Given the description of an element on the screen output the (x, y) to click on. 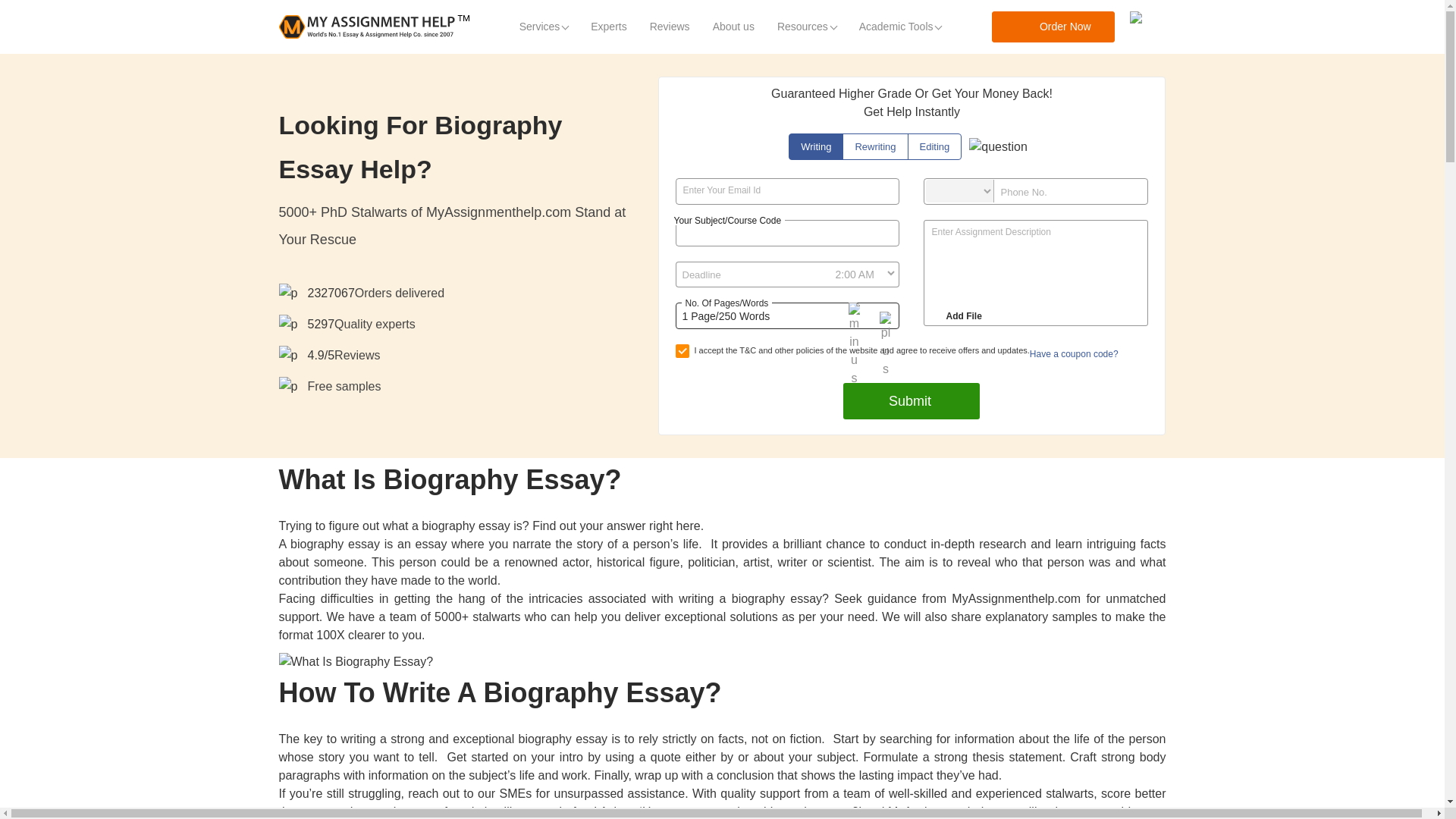
Info (998, 147)
Services (543, 26)
menu (1147, 26)
